Given the description of an element on the screen output the (x, y) to click on. 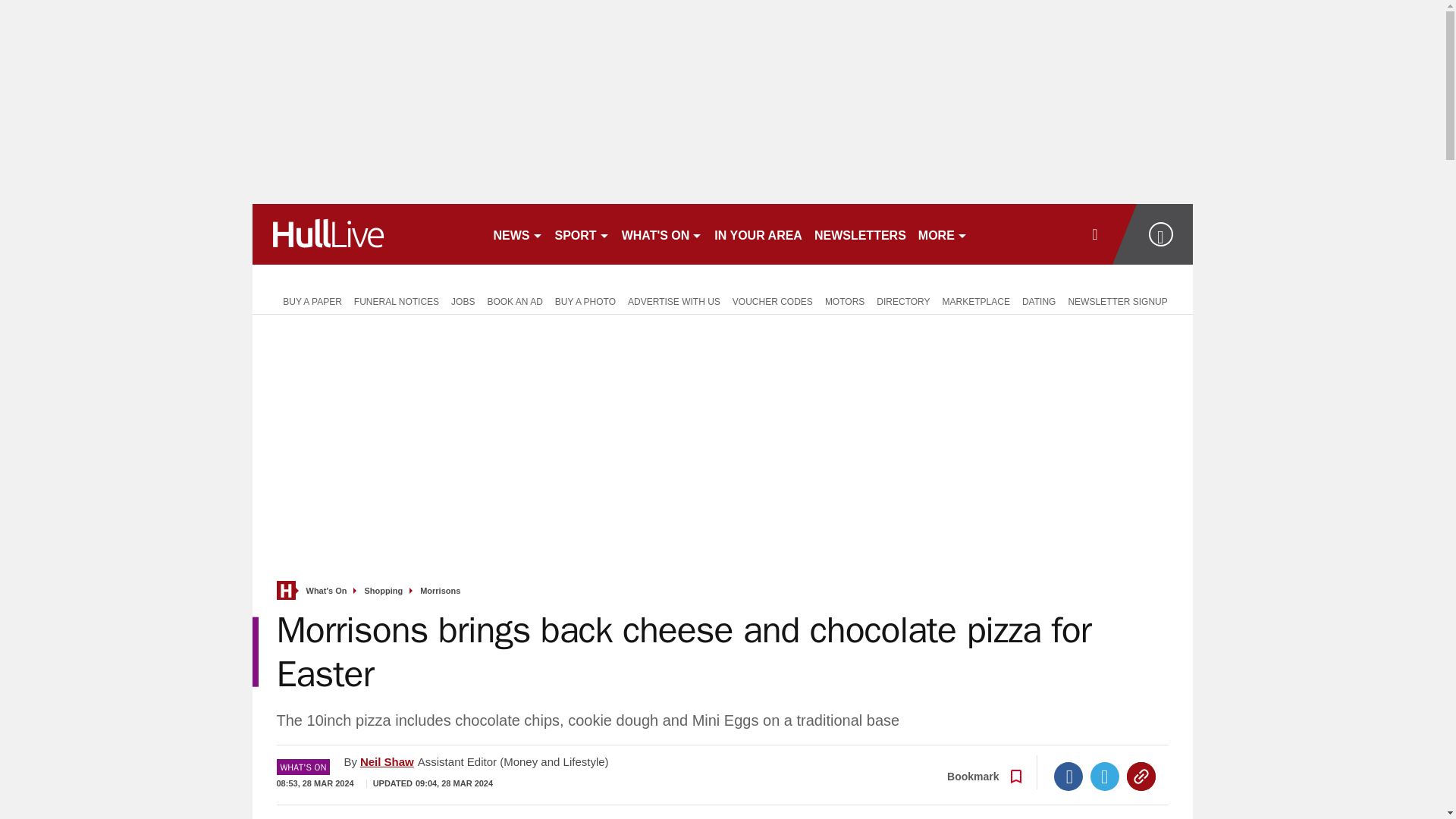
SPORT (581, 233)
MORE (943, 233)
NEWS (517, 233)
Twitter (1104, 776)
hulldailymail (365, 233)
IN YOUR AREA (757, 233)
Facebook (1068, 776)
WHAT'S ON (662, 233)
NEWSLETTERS (860, 233)
